Given the description of an element on the screen output the (x, y) to click on. 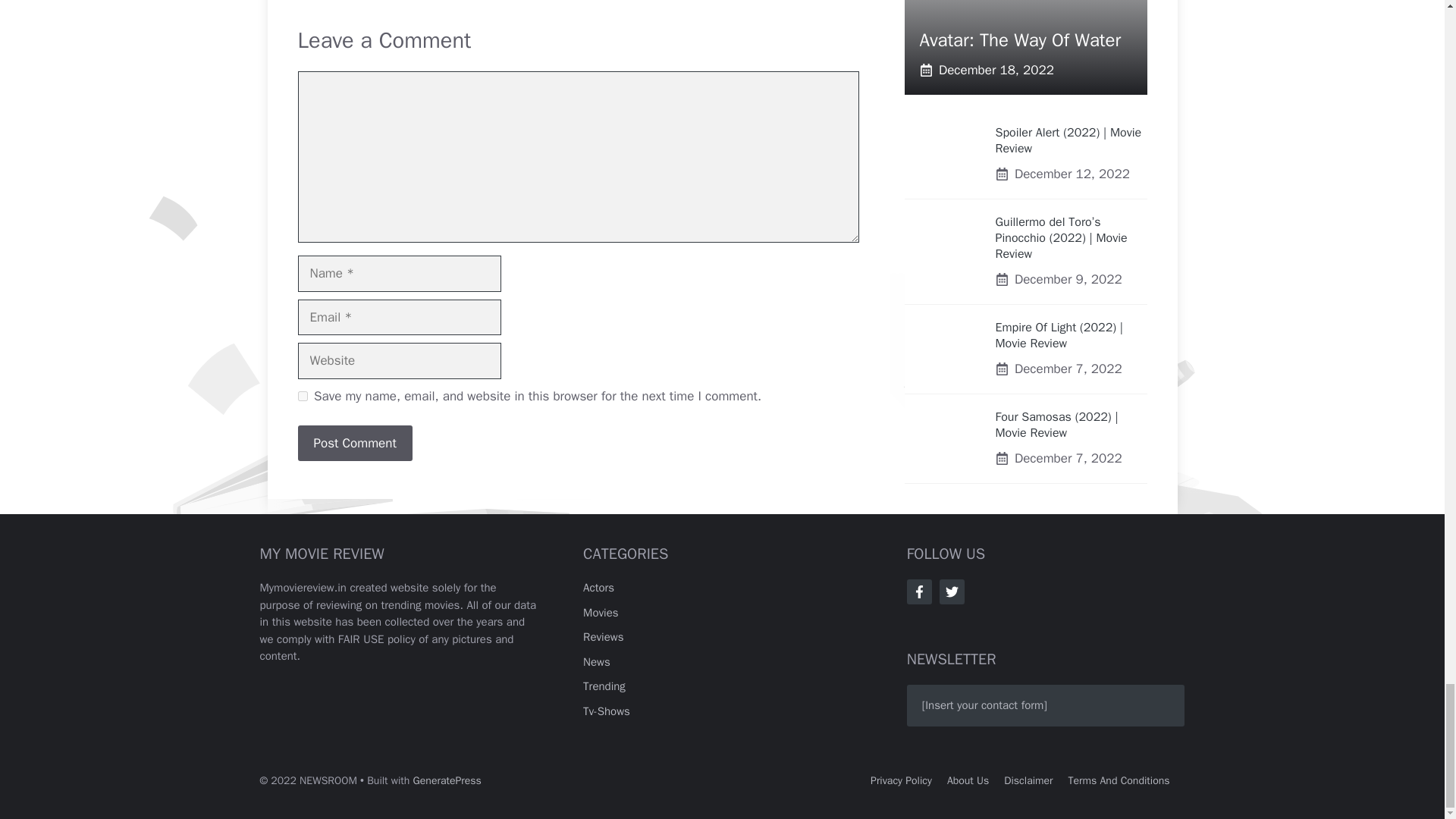
News (596, 662)
GeneratePress (447, 780)
Tv-Shows (606, 711)
About Us (967, 780)
Privacy Policy (900, 780)
Post Comment (354, 443)
Trending (604, 685)
Actors (598, 587)
Post Comment (354, 443)
Disclaimer (1028, 780)
Movies (600, 612)
yes (302, 396)
Reviews (603, 636)
Terms And Conditions (1119, 780)
